Given the description of an element on the screen output the (x, y) to click on. 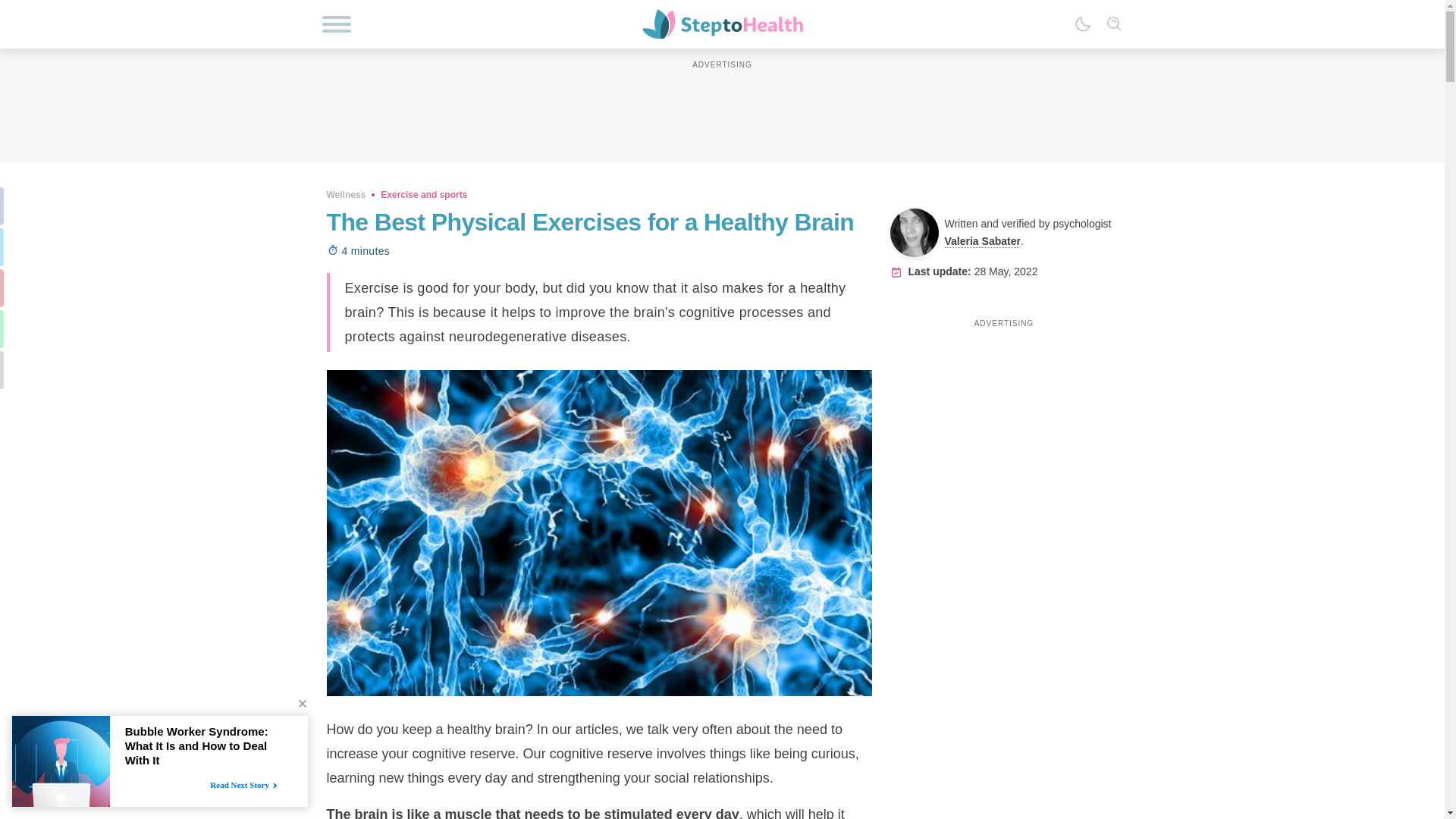
Wellness (345, 193)
Wellness (345, 193)
3rd party ad content (721, 106)
Exercise and sports (423, 193)
Exercise and sports (423, 193)
